Given the description of an element on the screen output the (x, y) to click on. 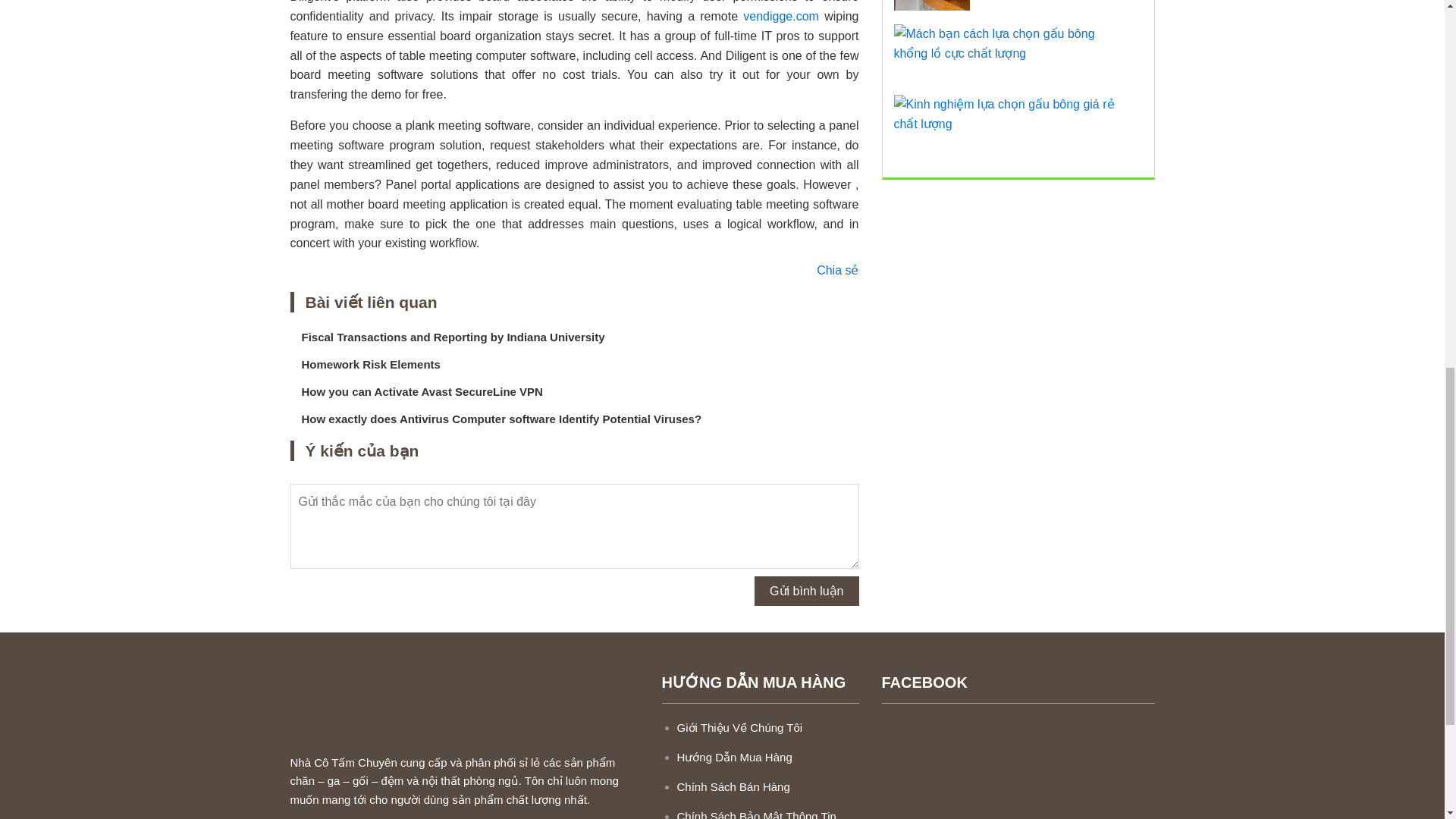
vendigge.com (780, 15)
Fiscal Transactions and Reporting by Indiana University (453, 336)
How you can Activate Avast SecureLine VPN (422, 391)
Fiscal Transactions and Reporting by Indiana University (453, 336)
How you can Activate Avast SecureLine VPN (422, 391)
Homework Risk Elements (371, 364)
Homework Risk Elements (371, 364)
